Given the description of an element on the screen output the (x, y) to click on. 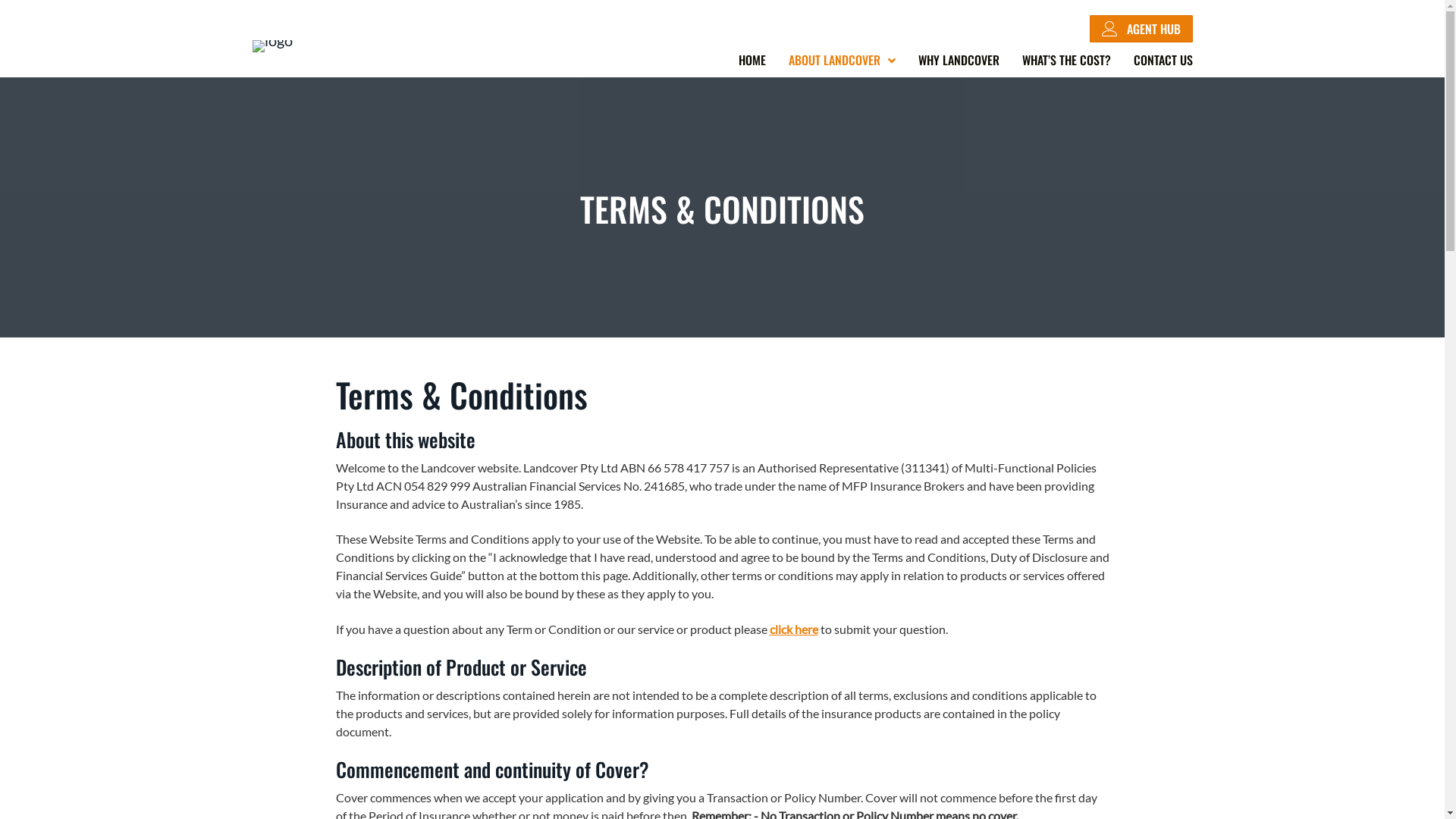
AGENT HUB Element type: text (1140, 28)
CONTACT US Element type: text (1163, 59)
WHY LANDCOVER Element type: text (958, 59)
logo Element type: hover (271, 46)
click here Element type: text (792, 628)
HOME Element type: text (752, 59)
Skip to primary navigation Element type: text (0, 0)
ABOUT LANDCOVER Element type: text (842, 59)
